Given the description of an element on the screen output the (x, y) to click on. 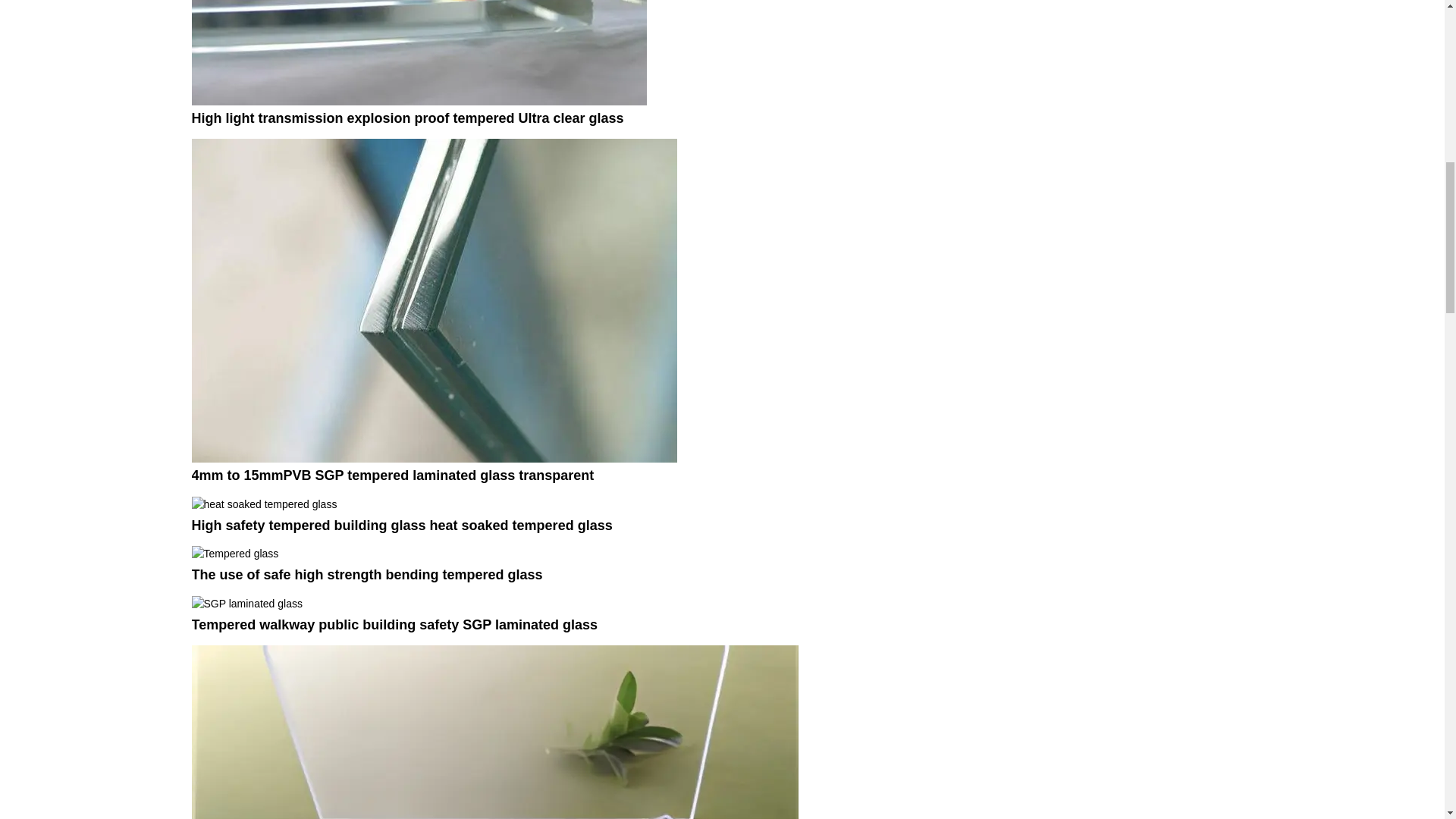
Tempered walkway public building safety SGP laminated glass (393, 624)
4mm to 15mmPVB SGP tempered laminated glass transparent (433, 299)
The use of safe high strength bending tempered glass (365, 574)
4mm to 15mmPVB SGP tempered laminated glass transparent (392, 475)
Tempered walkway public building safety SGP laminated glass (245, 603)
The use of safe high strength bending tempered glass (234, 553)
